Given the description of an element on the screen output the (x, y) to click on. 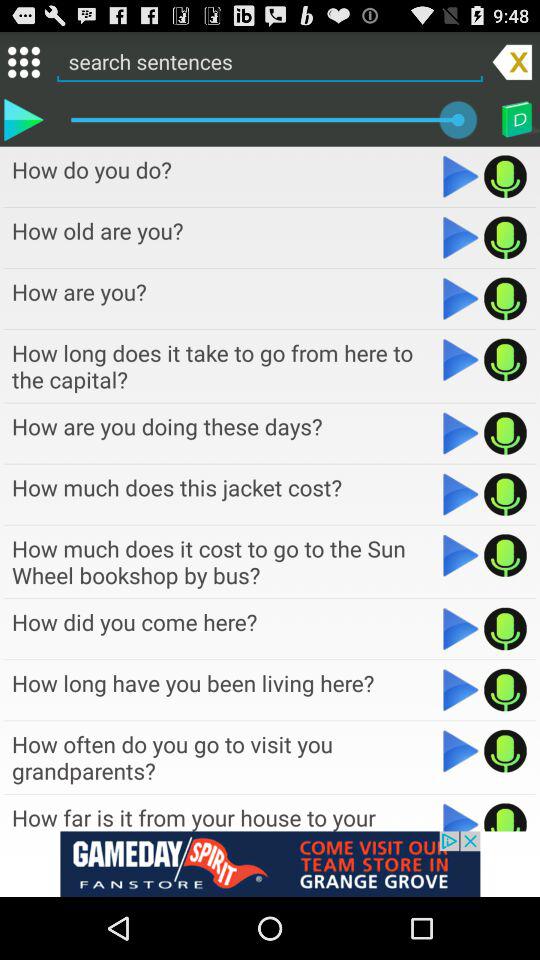
go to play (505, 237)
